Given the description of an element on the screen output the (x, y) to click on. 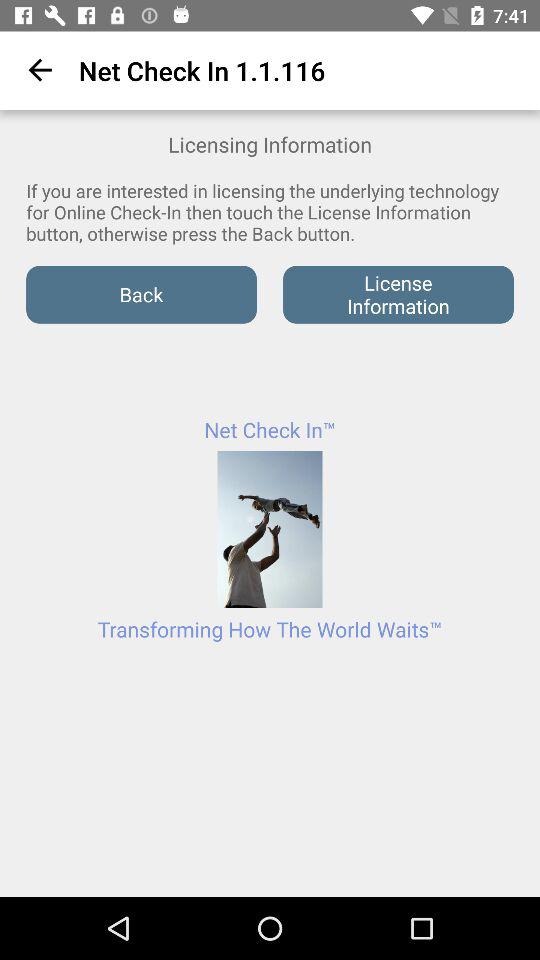
open icon above the licensing information icon (36, 70)
